Given the description of an element on the screen output the (x, y) to click on. 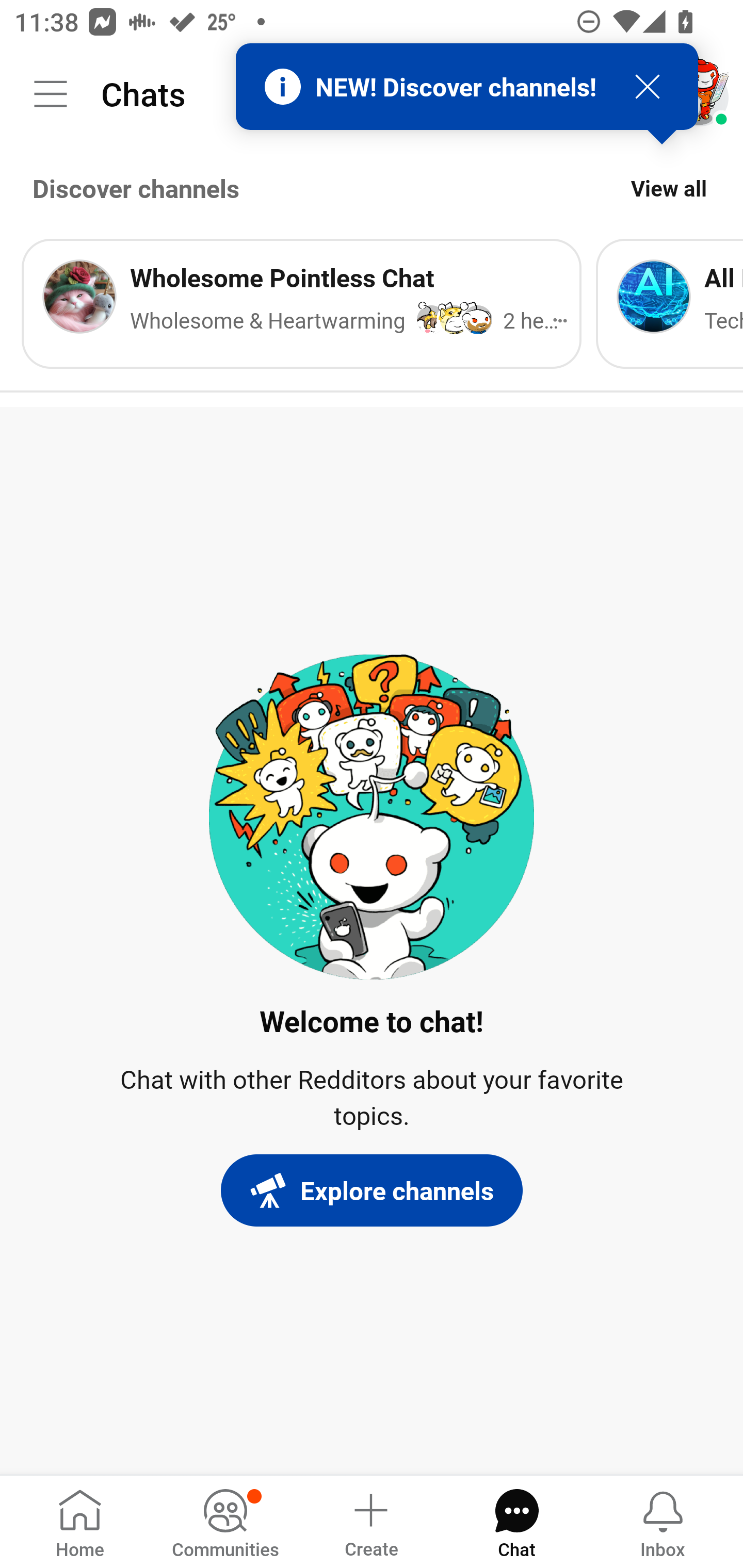
Community menu (50, 93)
Filter chats (626, 93)
View all (668, 188)
Explore channels (371, 1190)
Home (80, 1520)
Communities, has notifications Communities (225, 1520)
Create a post Create (370, 1520)
Chat (516, 1520)
Inbox (662, 1520)
